Given the description of an element on the screen output the (x, y) to click on. 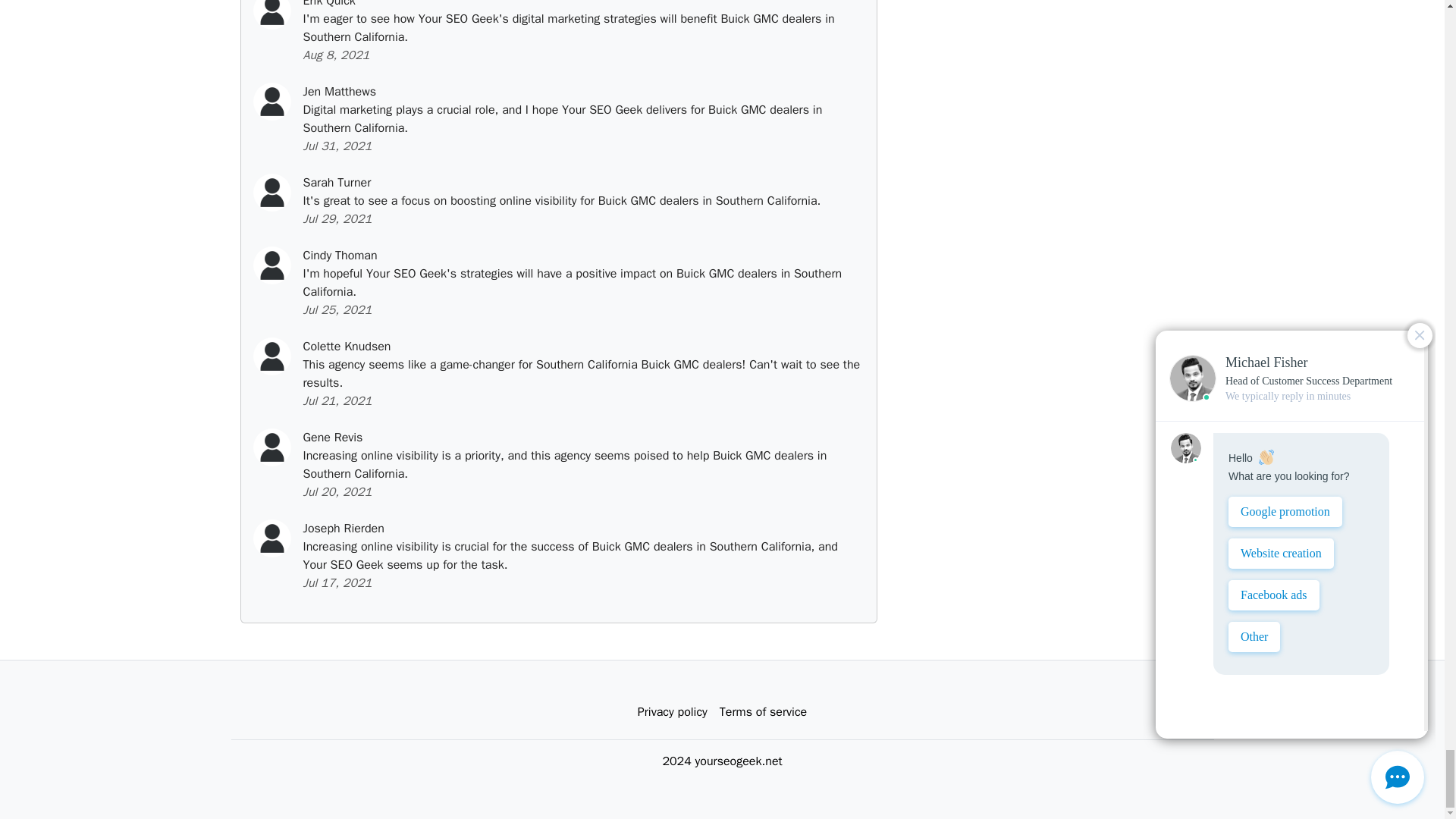
Privacy policy (672, 711)
Terms of service (762, 711)
